Given the description of an element on the screen output the (x, y) to click on. 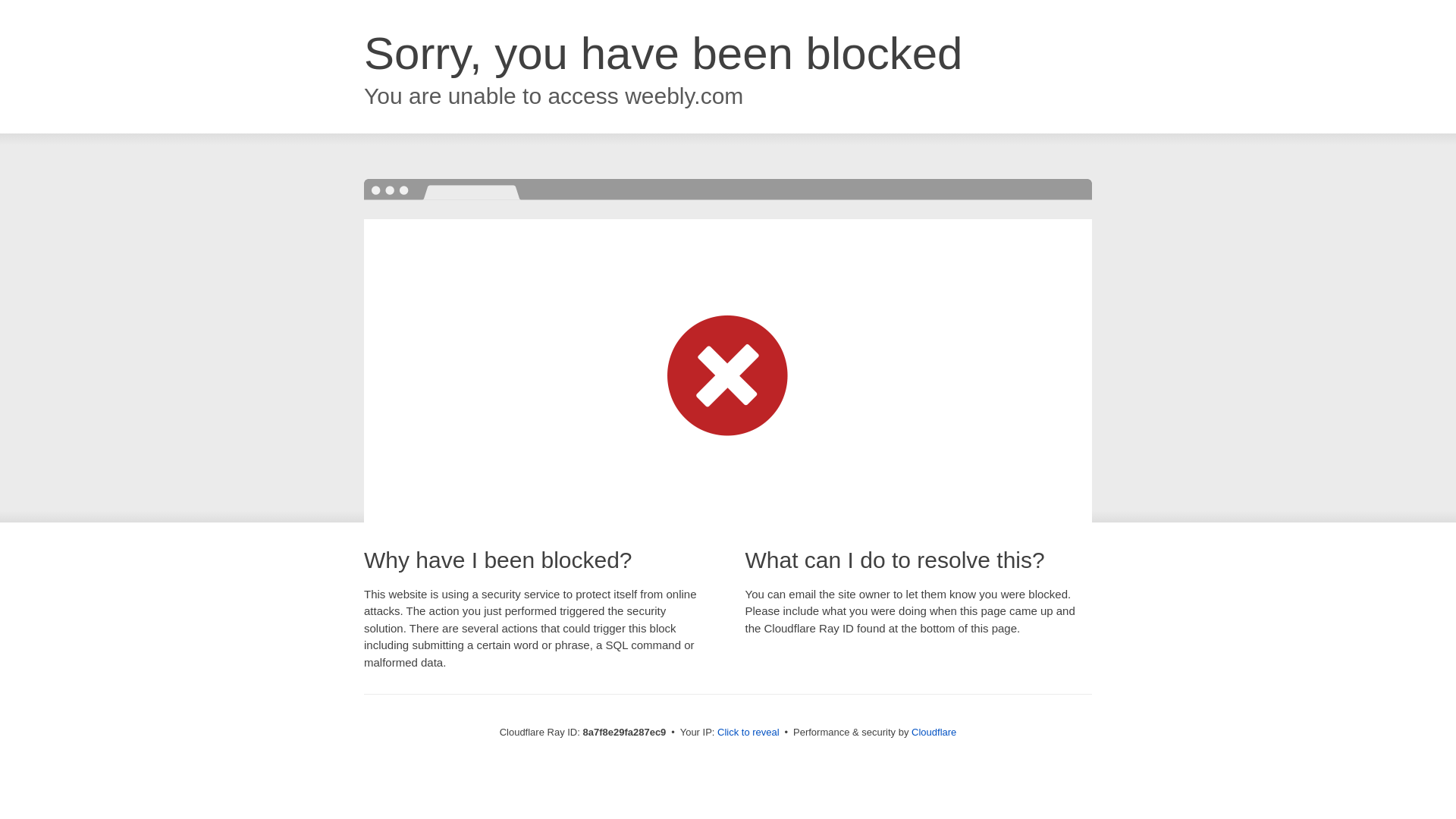
Cloudflare (933, 731)
Click to reveal (747, 732)
